Given the description of an element on the screen output the (x, y) to click on. 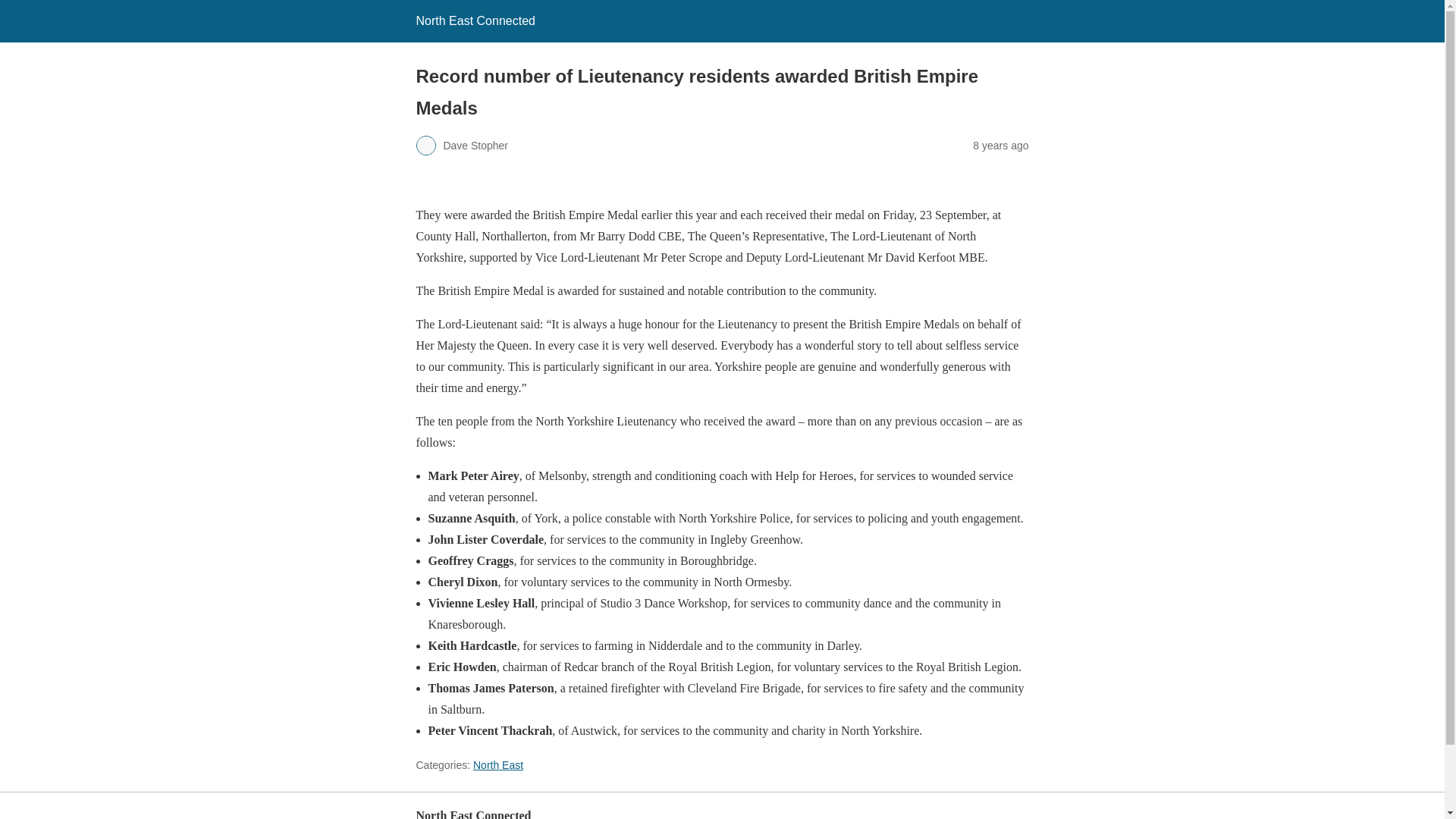
Back to top (1002, 816)
North East (497, 765)
North East Connected (474, 20)
